Given the description of an element on the screen output the (x, y) to click on. 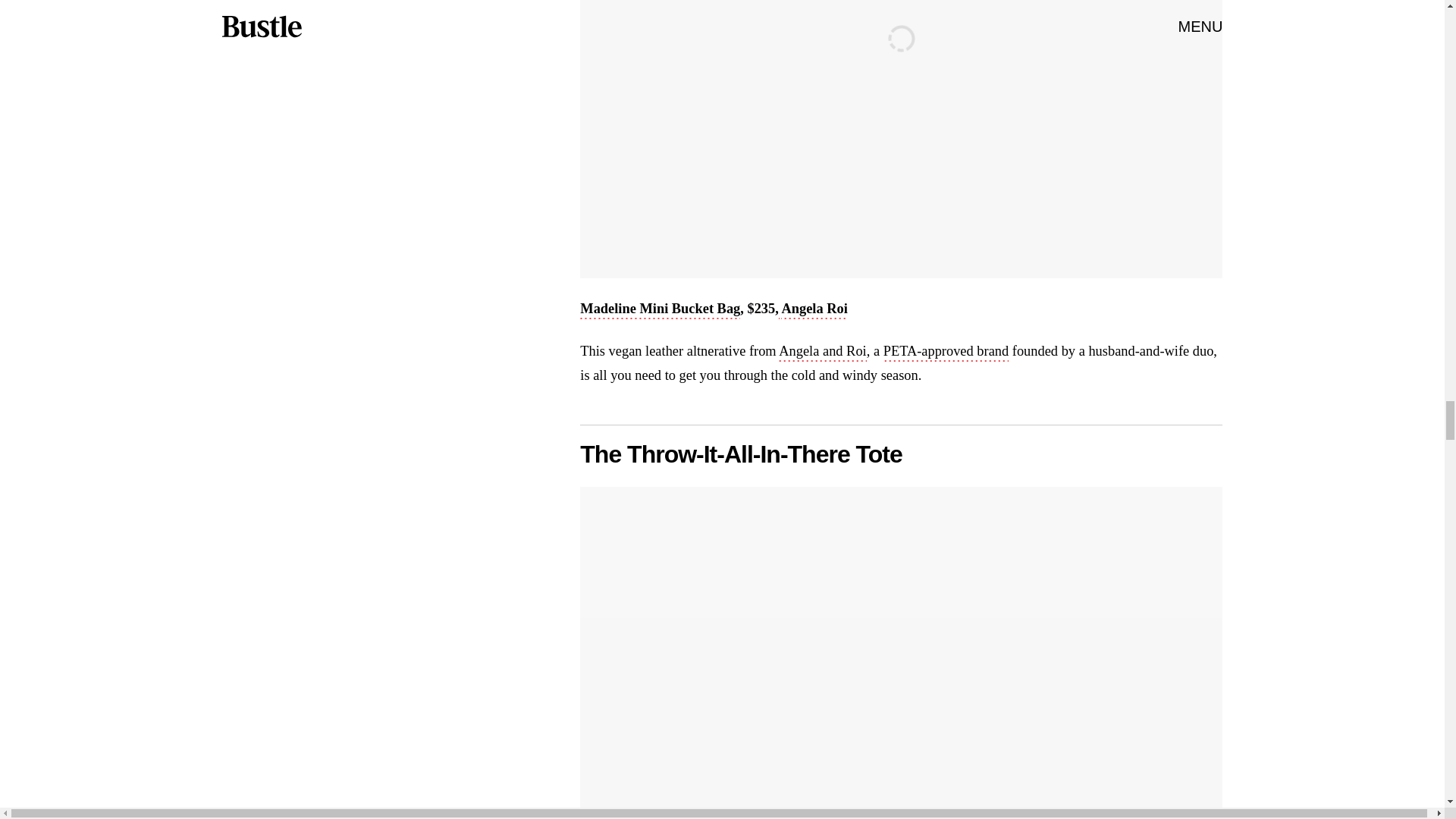
Angela Roi (813, 310)
Angela and Roi (822, 352)
Madeline Mini Bucket Bag (659, 310)
PETA-approved brand (946, 352)
